Given the description of an element on the screen output the (x, y) to click on. 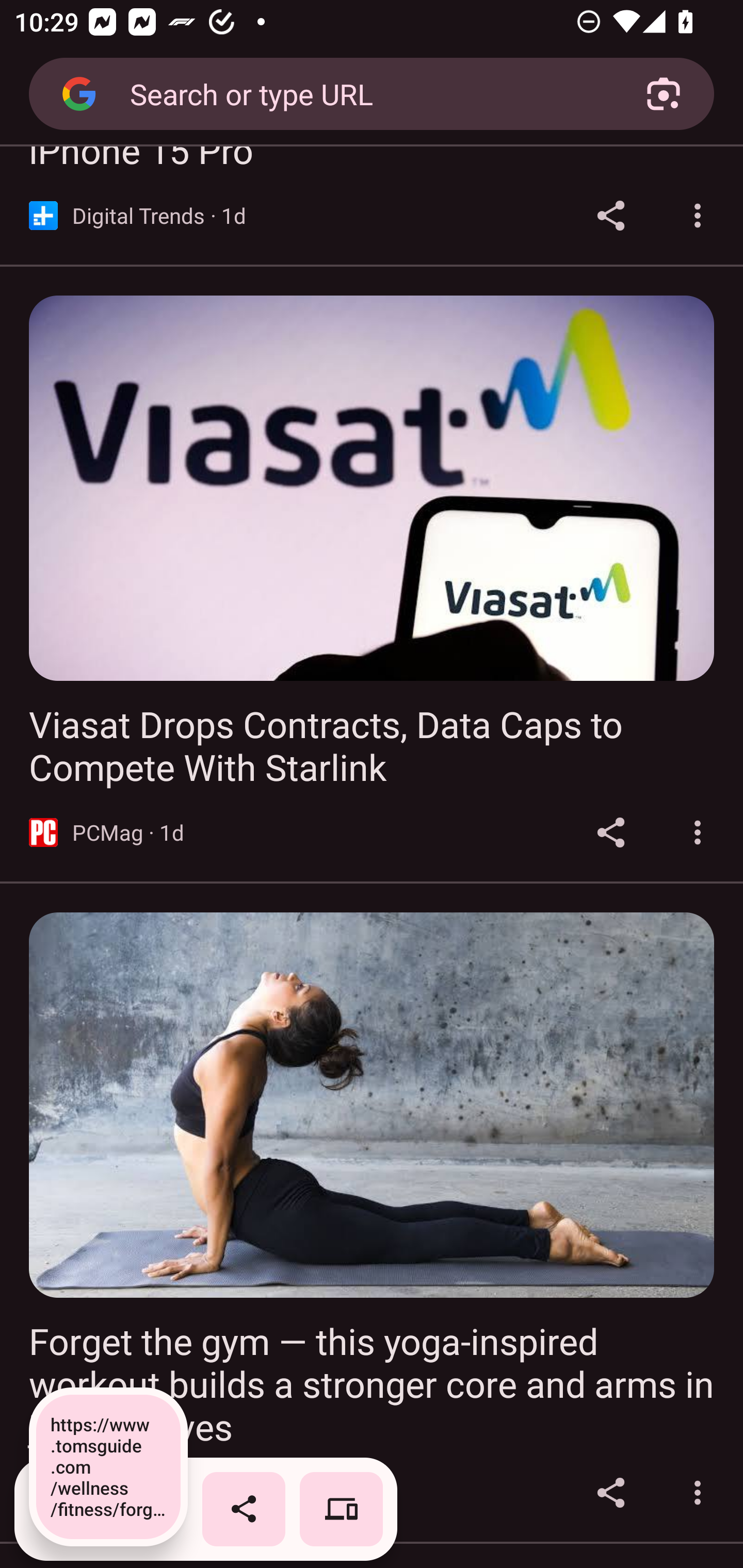
Search with your camera using Google Lens (663, 93)
Search or type URL (364, 92)
